Given the description of an element on the screen output the (x, y) to click on. 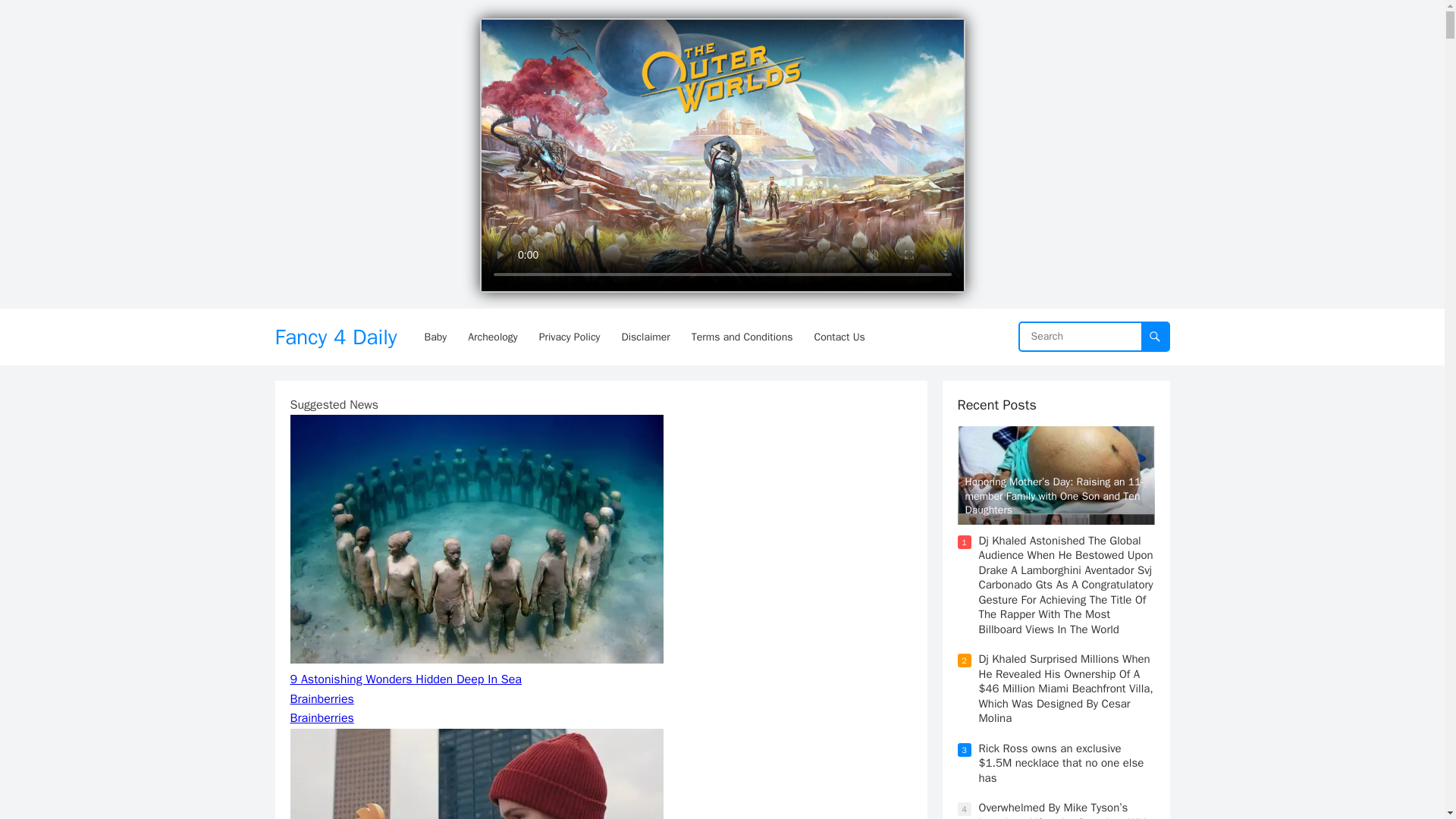
Disclaimer (645, 336)
Close (947, 30)
Privacy Policy (569, 336)
Contact Us (839, 336)
Terms and Conditions (742, 336)
Close (947, 30)
Archeology (491, 336)
Fancy 4 Daily (335, 336)
